Given the description of an element on the screen output the (x, y) to click on. 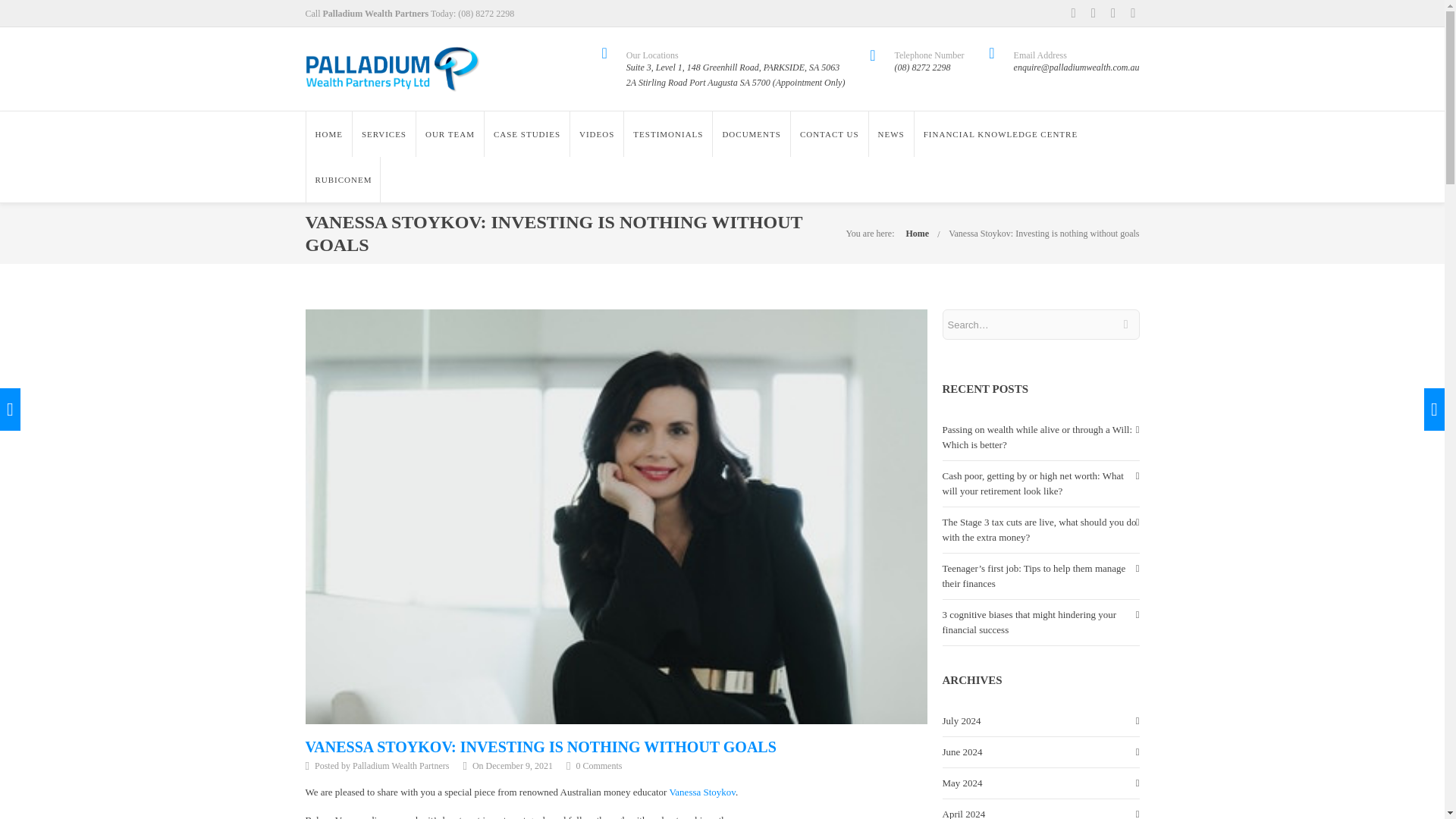
SERVICES (383, 134)
OUR TEAM (449, 134)
CASE STUDIES (526, 134)
